Given the description of an element on the screen output the (x, y) to click on. 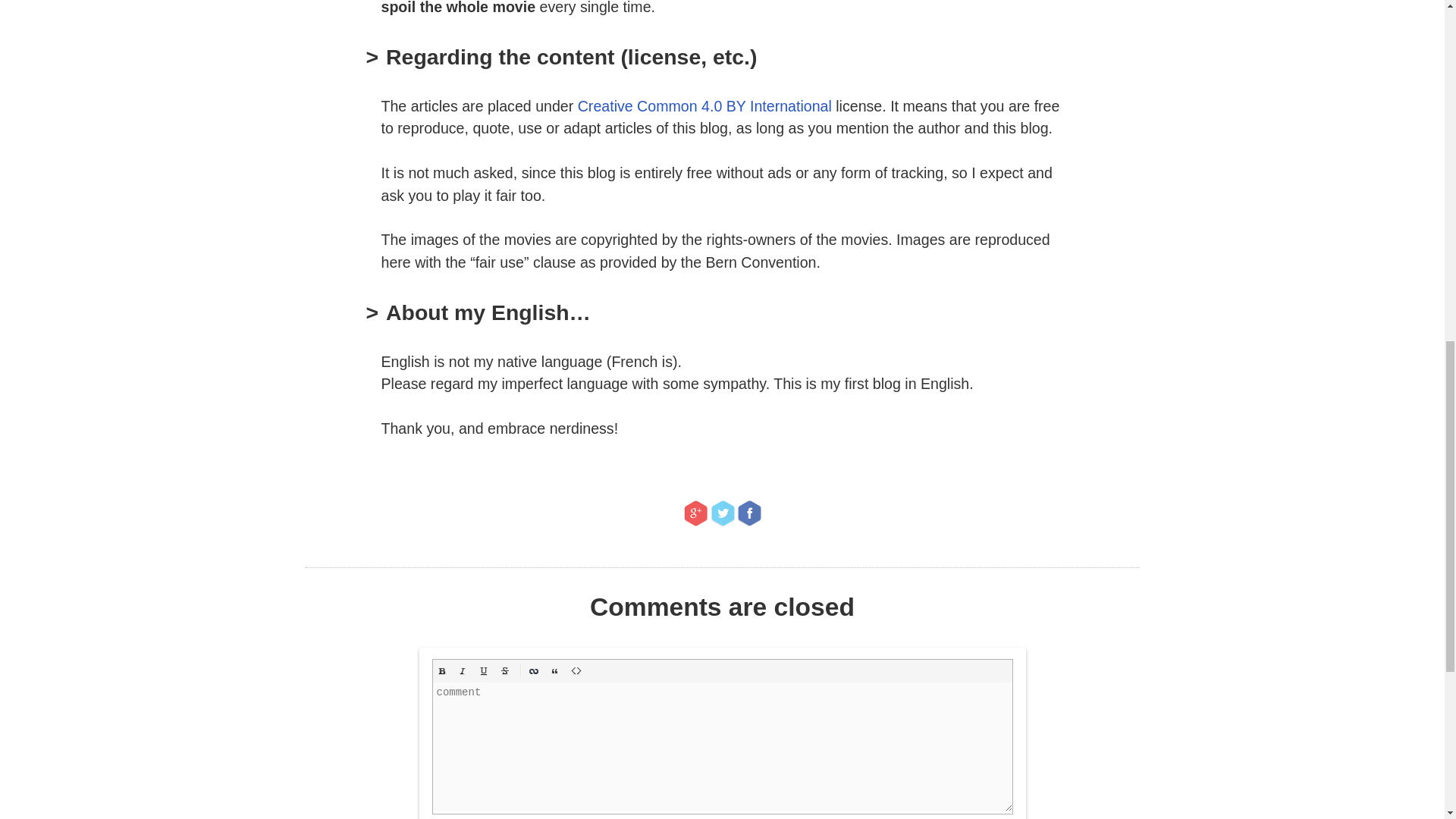
Line-through (504, 670)
Insert formated code (576, 670)
Partager sur Facebook (748, 513)
Italic (461, 670)
Partager sur Twitter (721, 513)
Creative Common 4.0 BY International (704, 105)
Underline (483, 670)
Insert a quote (555, 670)
Bold (440, 670)
Insert a link (533, 670)
